Given the description of an element on the screen output the (x, y) to click on. 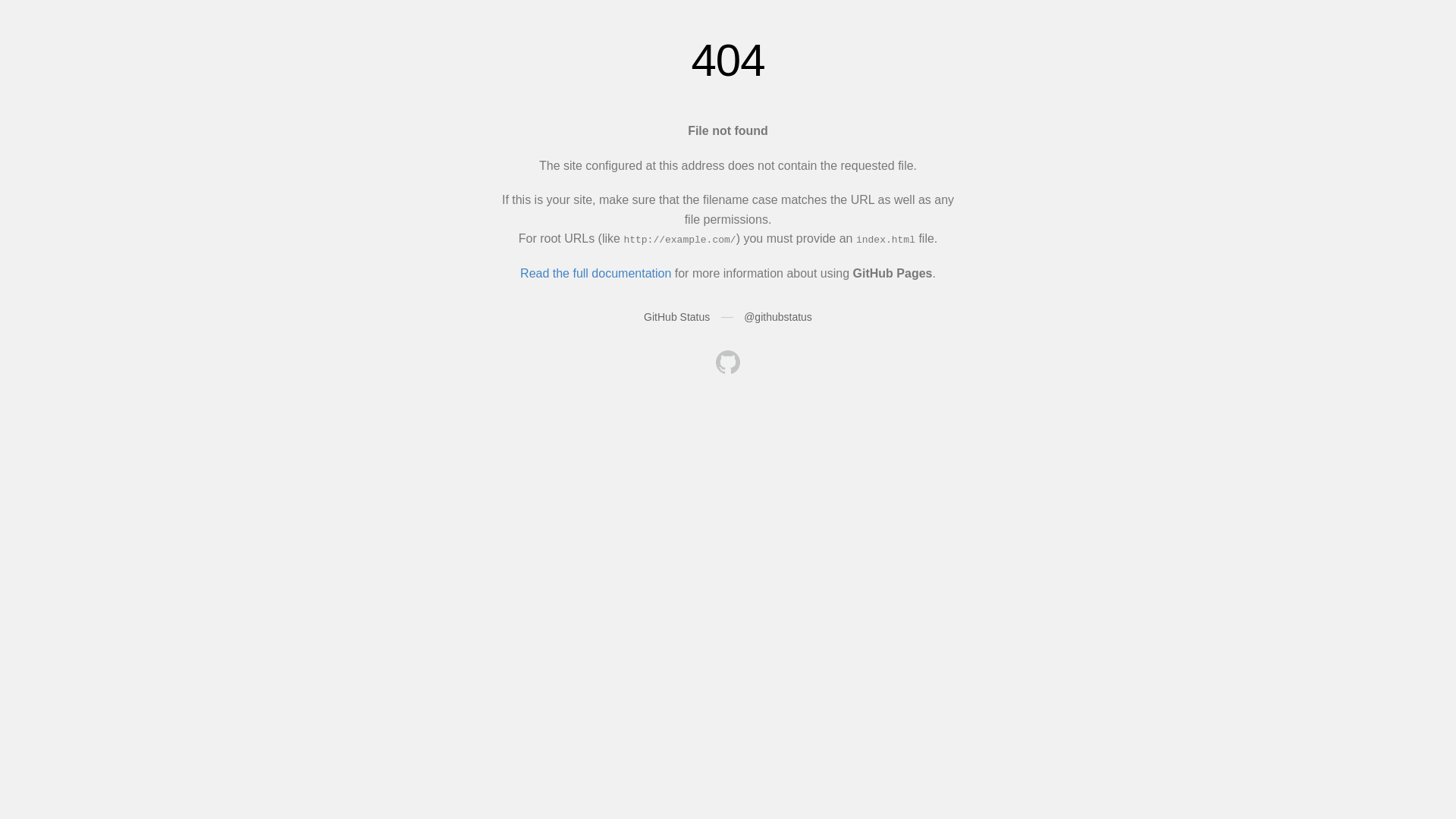
@githubstatus Element type: text (777, 316)
Read the full documentation Element type: text (595, 272)
GitHub Status Element type: text (676, 316)
